Given the description of an element on the screen output the (x, y) to click on. 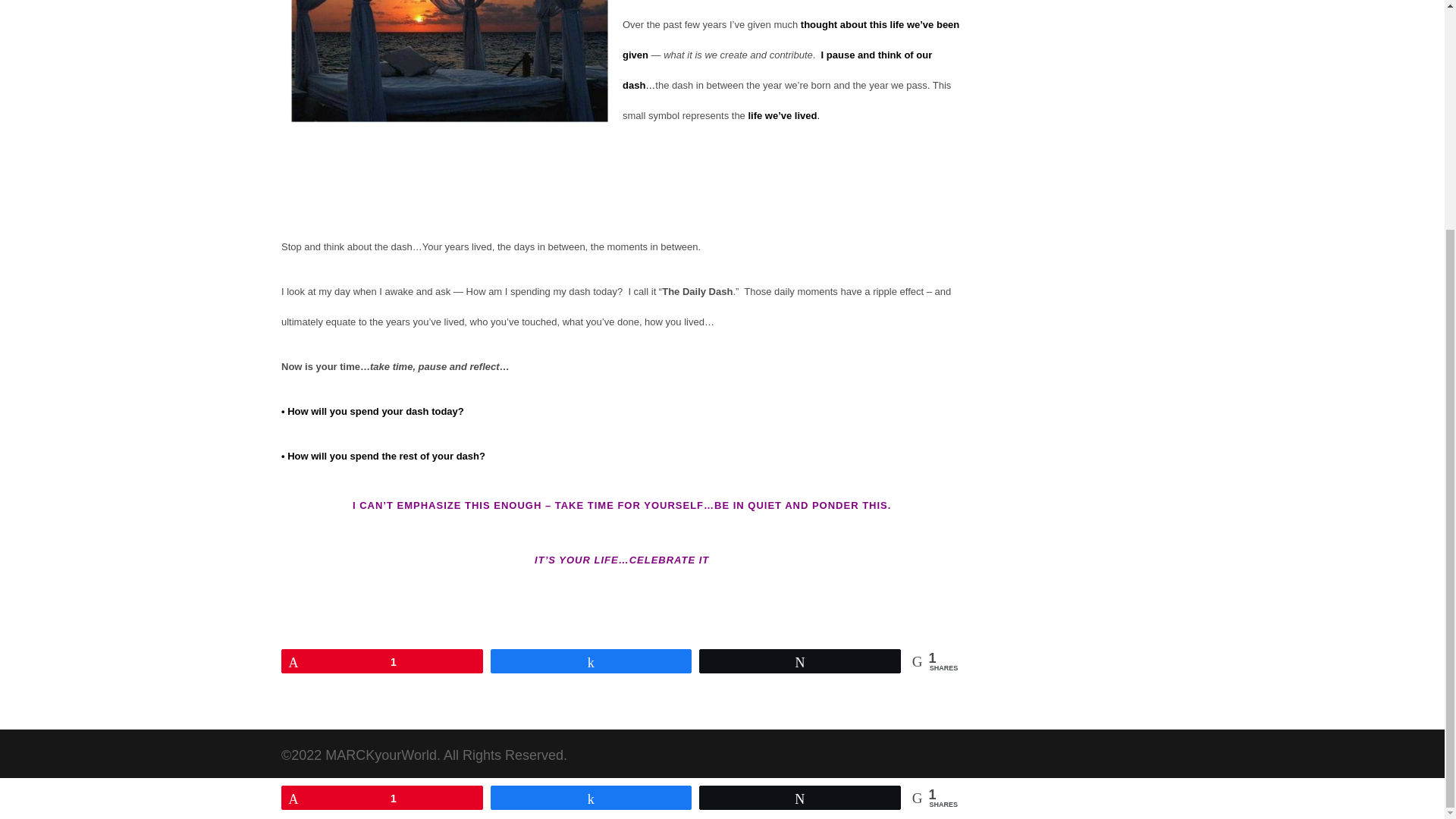
1 (381, 661)
1 (381, 486)
